Given the description of an element on the screen output the (x, y) to click on. 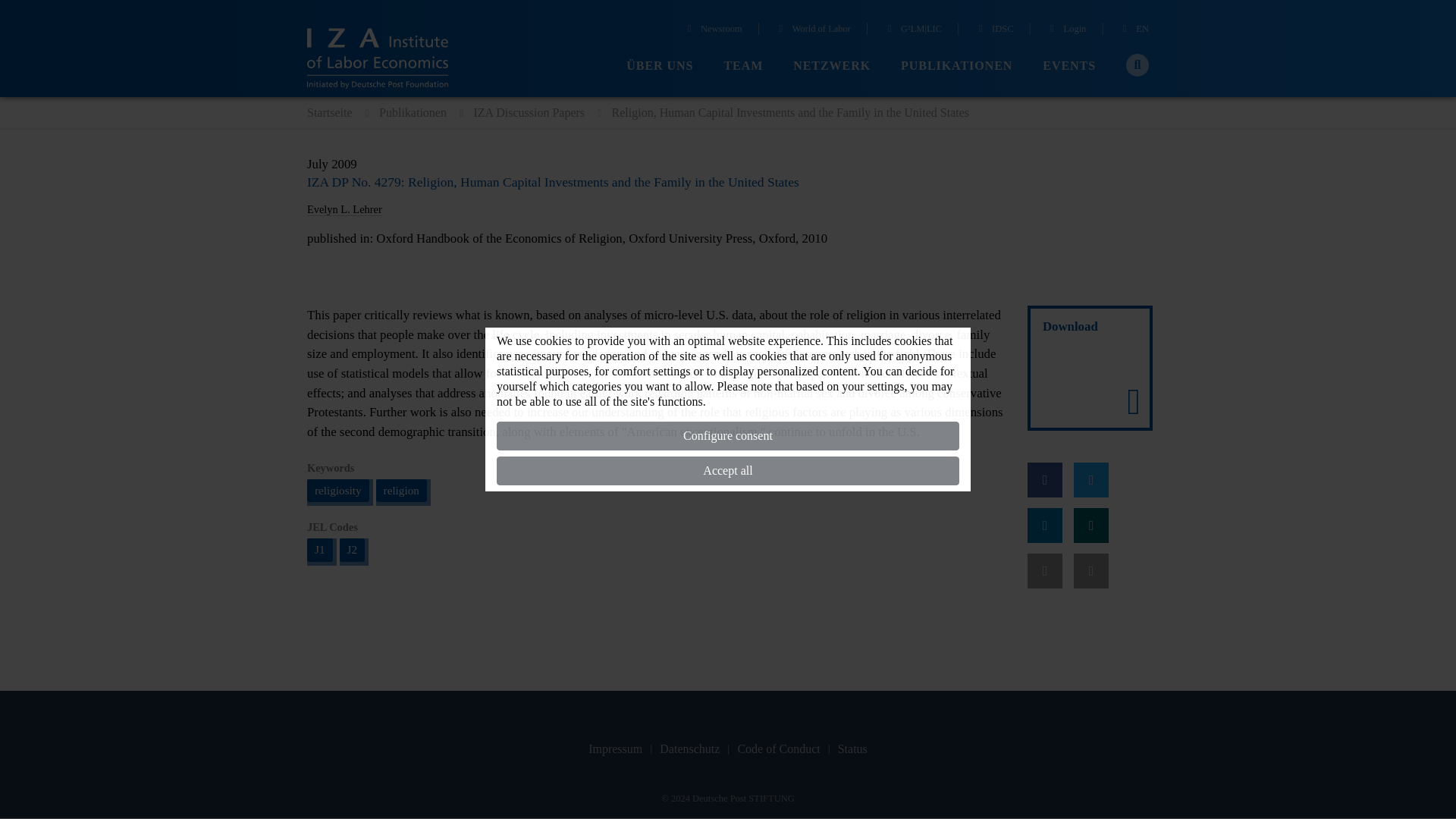
TEAM (742, 66)
EN (1133, 30)
EVENTS (1069, 66)
Newsroom (712, 30)
PUBLIKATIONEN (956, 66)
NETZWERK (831, 66)
Login (1066, 30)
World of Labor (812, 30)
IDSC (993, 30)
